Given the description of an element on the screen output the (x, y) to click on. 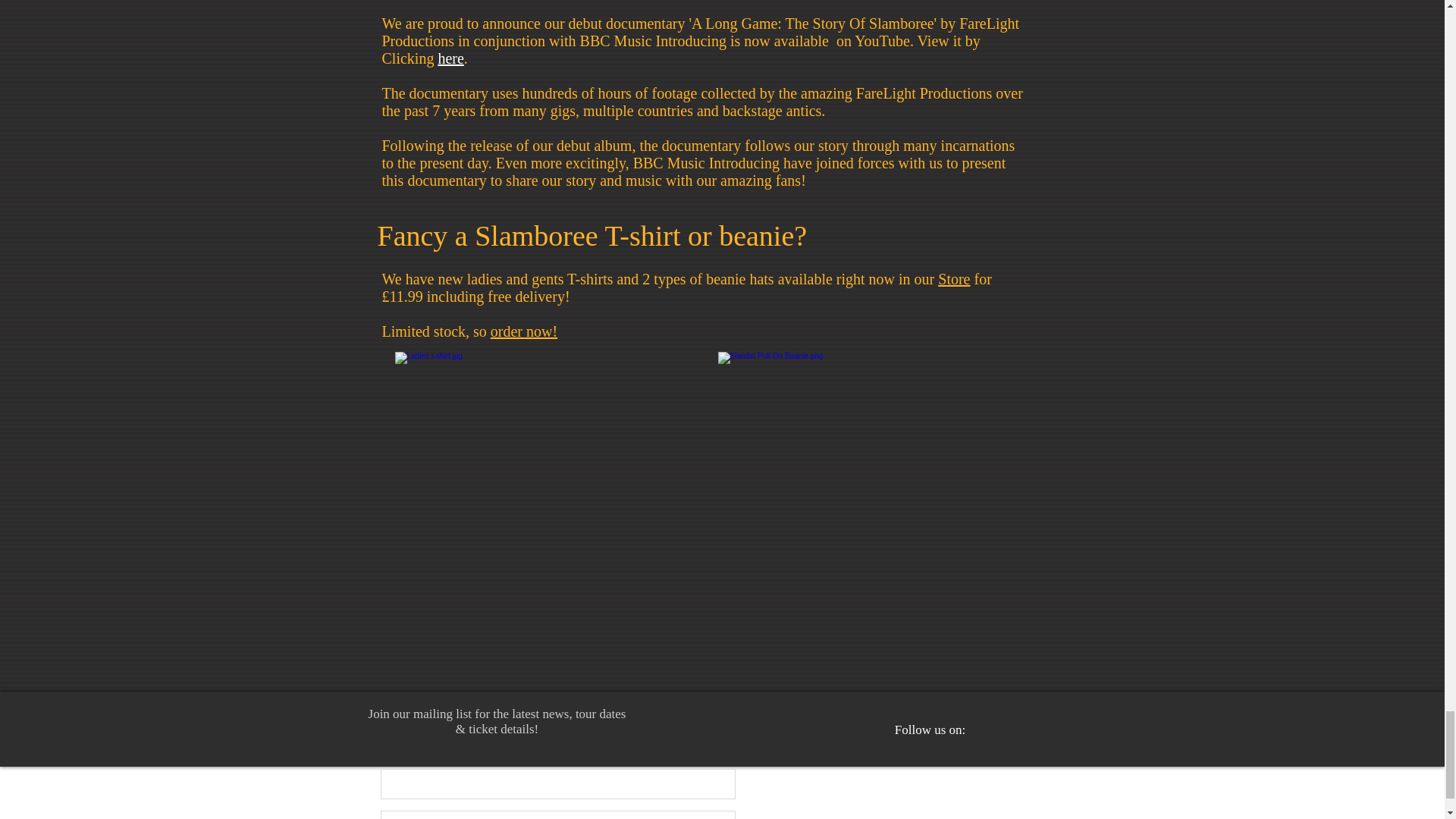
here (450, 57)
Store (953, 279)
order now! (523, 330)
